Given the description of an element on the screen output the (x, y) to click on. 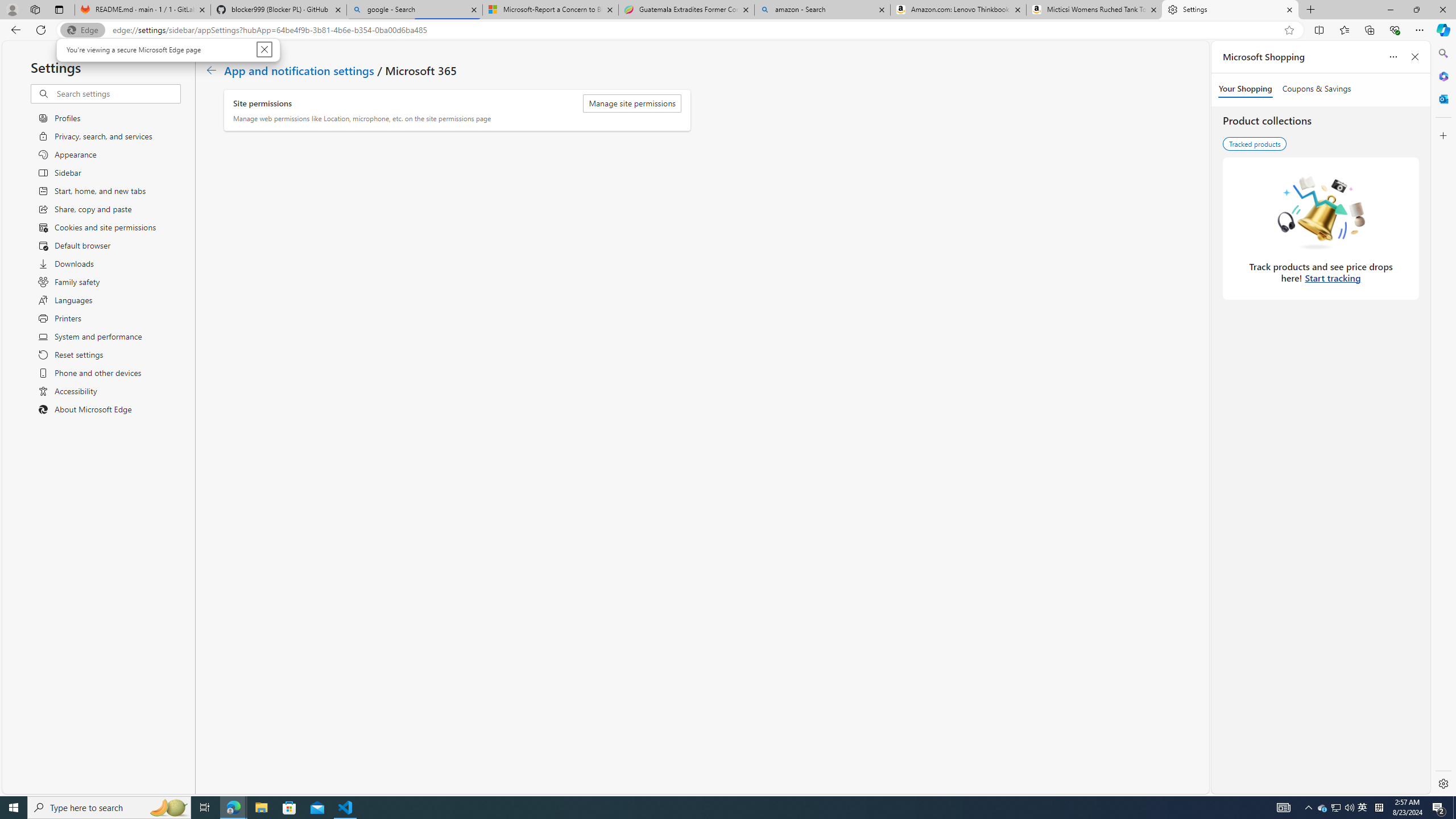
AutomationID: 4105 (1283, 807)
Action Center, 2 new notifications (1439, 807)
